Given the description of an element on the screen output the (x, y) to click on. 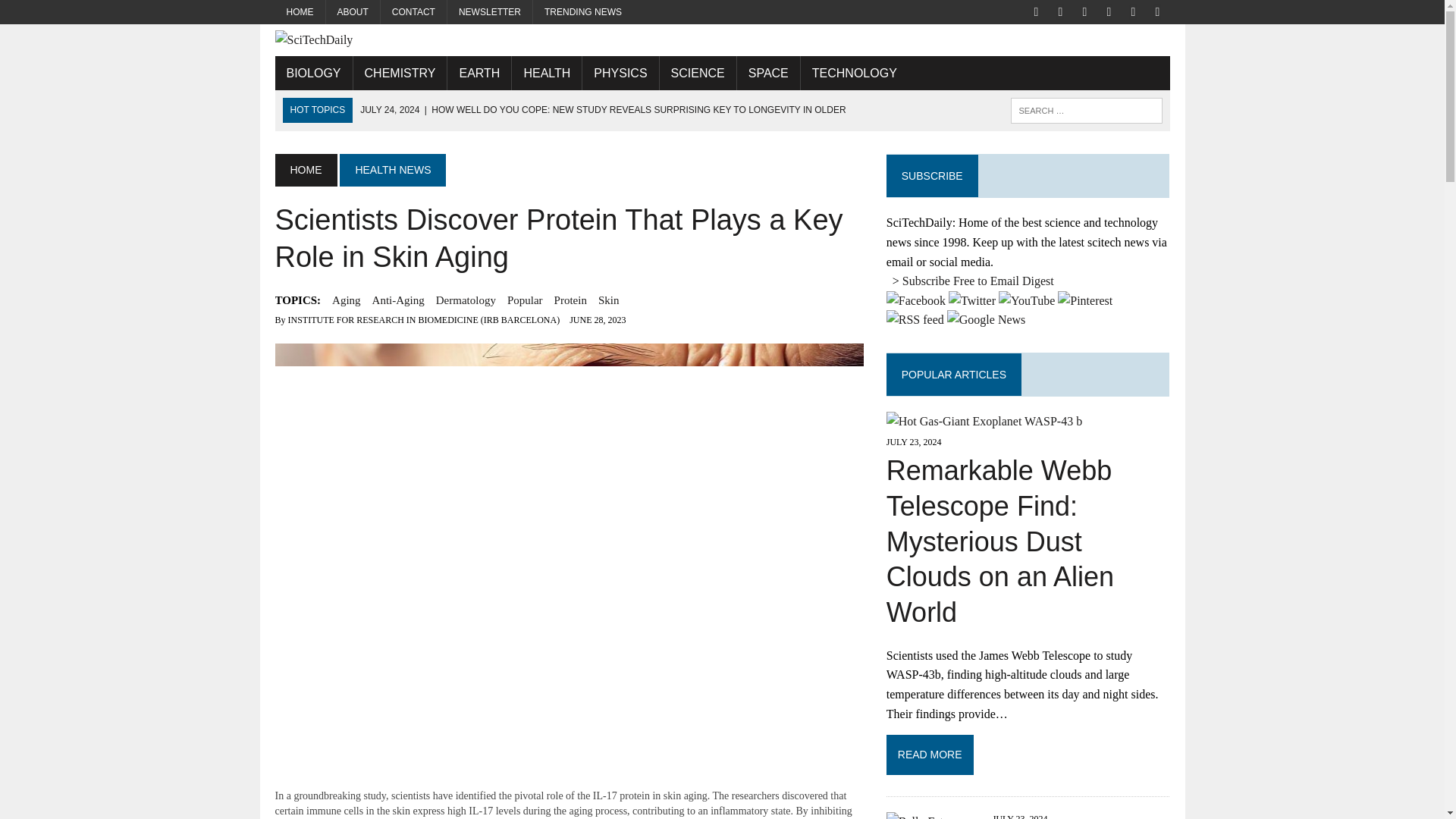
CHEMISTRY (399, 73)
Popular (524, 300)
HEALTH (546, 73)
ABOUT (353, 12)
Anti-Aging (398, 300)
SPACE (767, 73)
HOME (299, 12)
Dermatology (465, 300)
EARTH (478, 73)
TRENDING NEWS (582, 12)
Aging (346, 300)
HOME (305, 169)
CONTACT (413, 12)
SciTechDaily (722, 39)
